Given the description of an element on the screen output the (x, y) to click on. 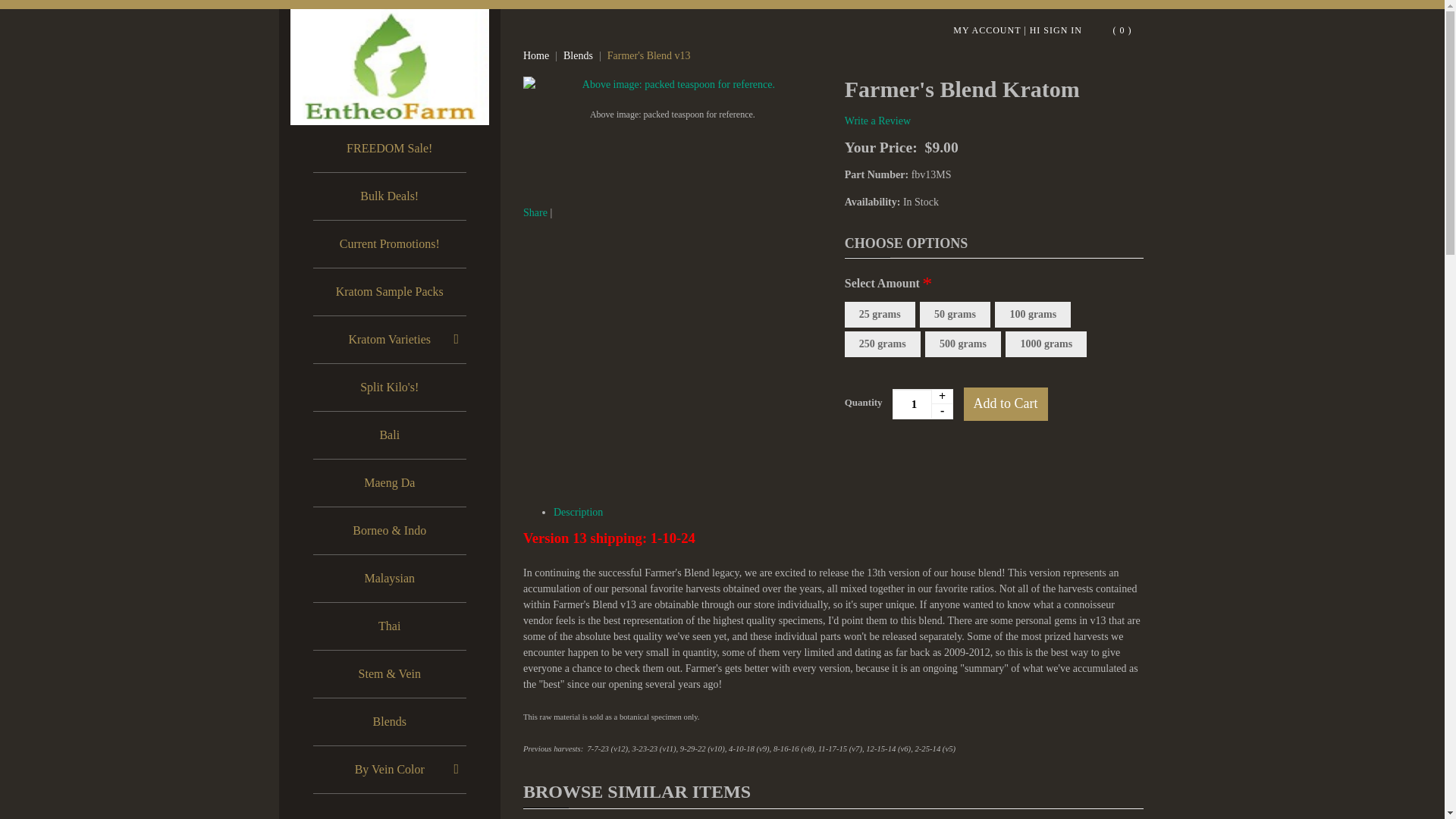
Maeng Da (389, 482)
Above image: packed teaspoon for reference.  (672, 113)
50 grams (955, 314)
500 grams (962, 344)
100 grams (1032, 314)
1000 grams (1046, 344)
250 grams (882, 344)
1 (922, 404)
FREEDOM Sale! (389, 148)
Thai (389, 626)
Malaysian (389, 578)
Blends (389, 721)
Above image: packed teaspoon for reference.  (672, 84)
Bulk Deals! (389, 196)
Split Kilo'S! (389, 387)
